Given the description of an element on the screen output the (x, y) to click on. 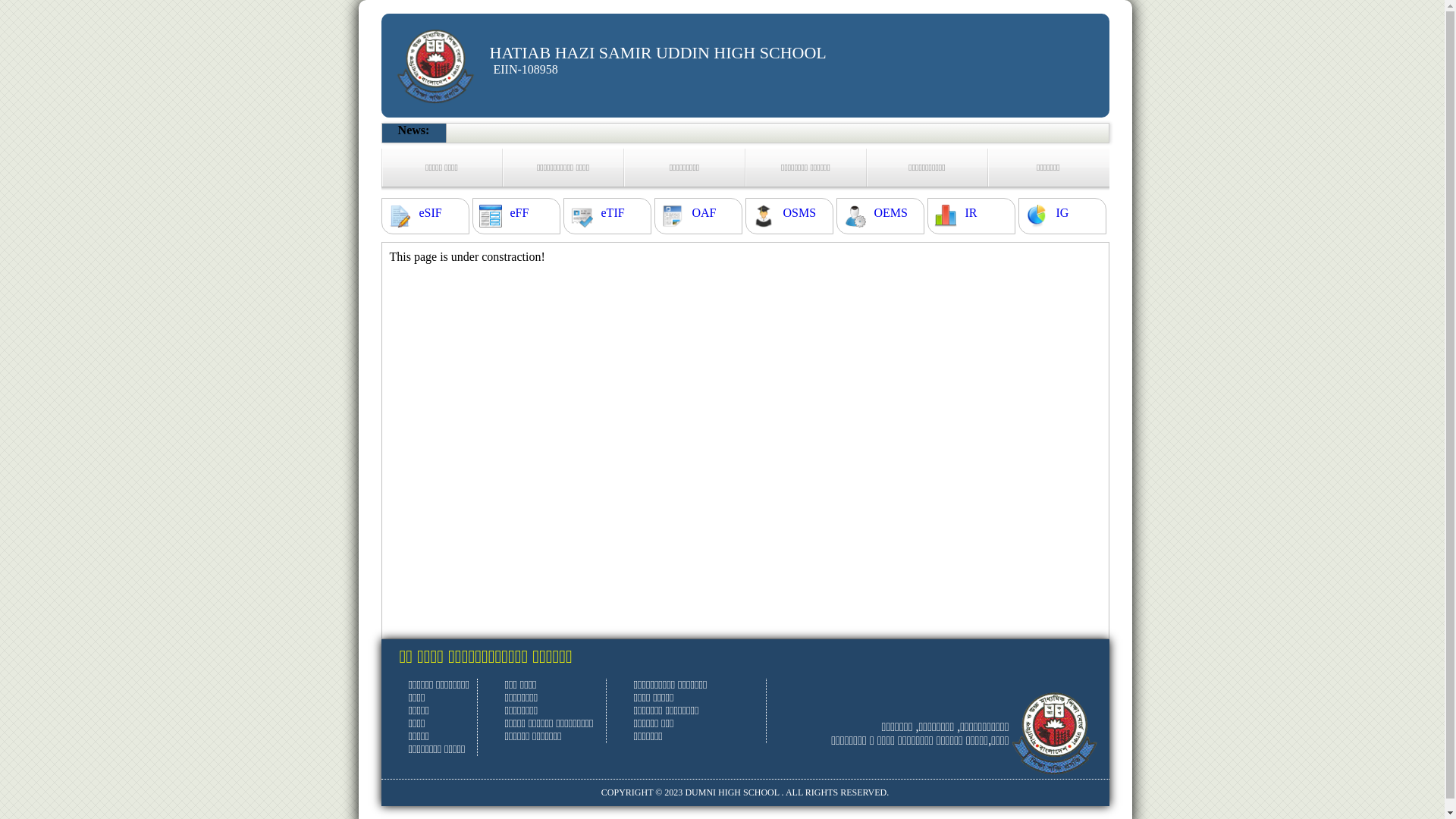
OAF Element type: text (703, 212)
eTIF Element type: text (612, 212)
eFF Element type: text (518, 212)
IR Element type: text (970, 212)
eSIF Element type: text (429, 212)
IG Element type: text (1061, 212)
OSMS Element type: text (798, 212)
DUMNI HIGH SCHOOL Element type: text (731, 792)
OEMS Element type: text (889, 212)
